Given the description of an element on the screen output the (x, y) to click on. 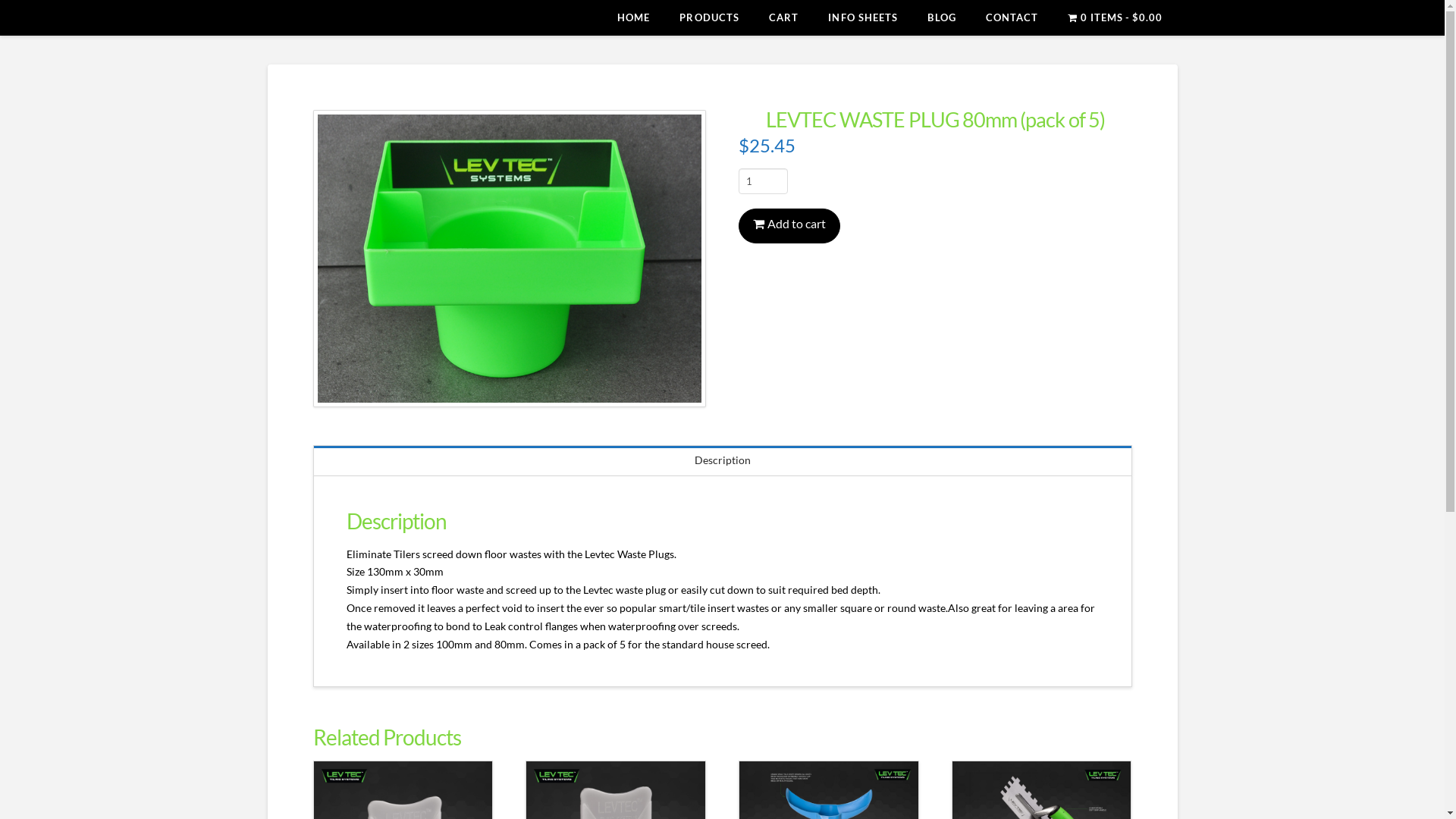
INFO SHEETS Element type: text (862, 17)
Waste Plug Small Element type: hover (508, 258)
Waste Plug Small Element type: hover (508, 258)
Add to cart Element type: text (789, 225)
Qty Element type: hover (762, 181)
BLOG Element type: text (940, 17)
CONTACT Element type: text (1011, 17)
HOME Element type: text (633, 17)
0 ITEMS$0.00 Element type: text (1114, 17)
LevTec Element type: text (311, 19)
PRODUCTS Element type: text (708, 17)
Description Element type: text (722, 460)
CART Element type: text (782, 17)
